Given the description of an element on the screen output the (x, y) to click on. 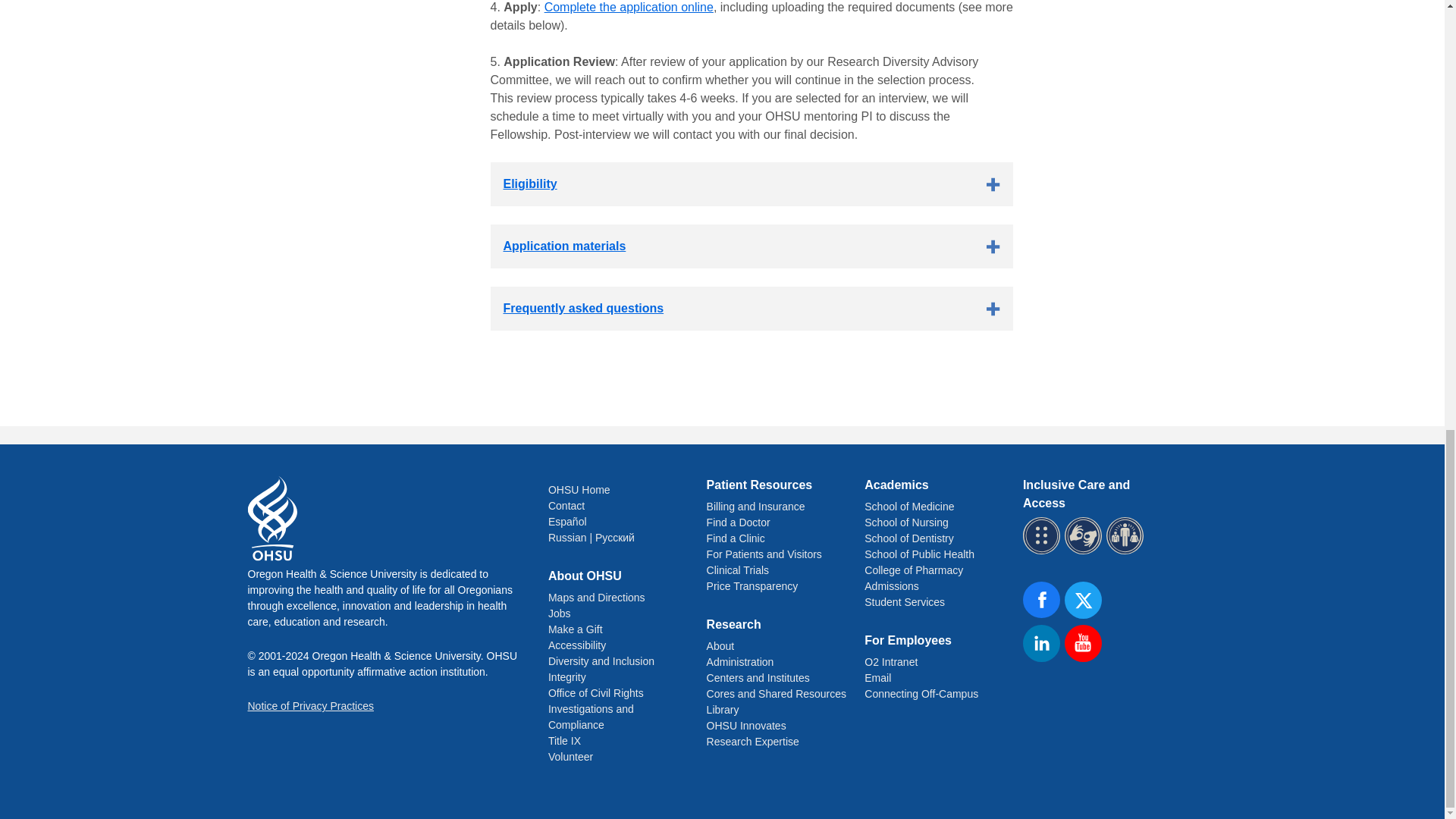
Eligibility (751, 184)
Complete the application online (628, 6)
